Given the description of an element on the screen output the (x, y) to click on. 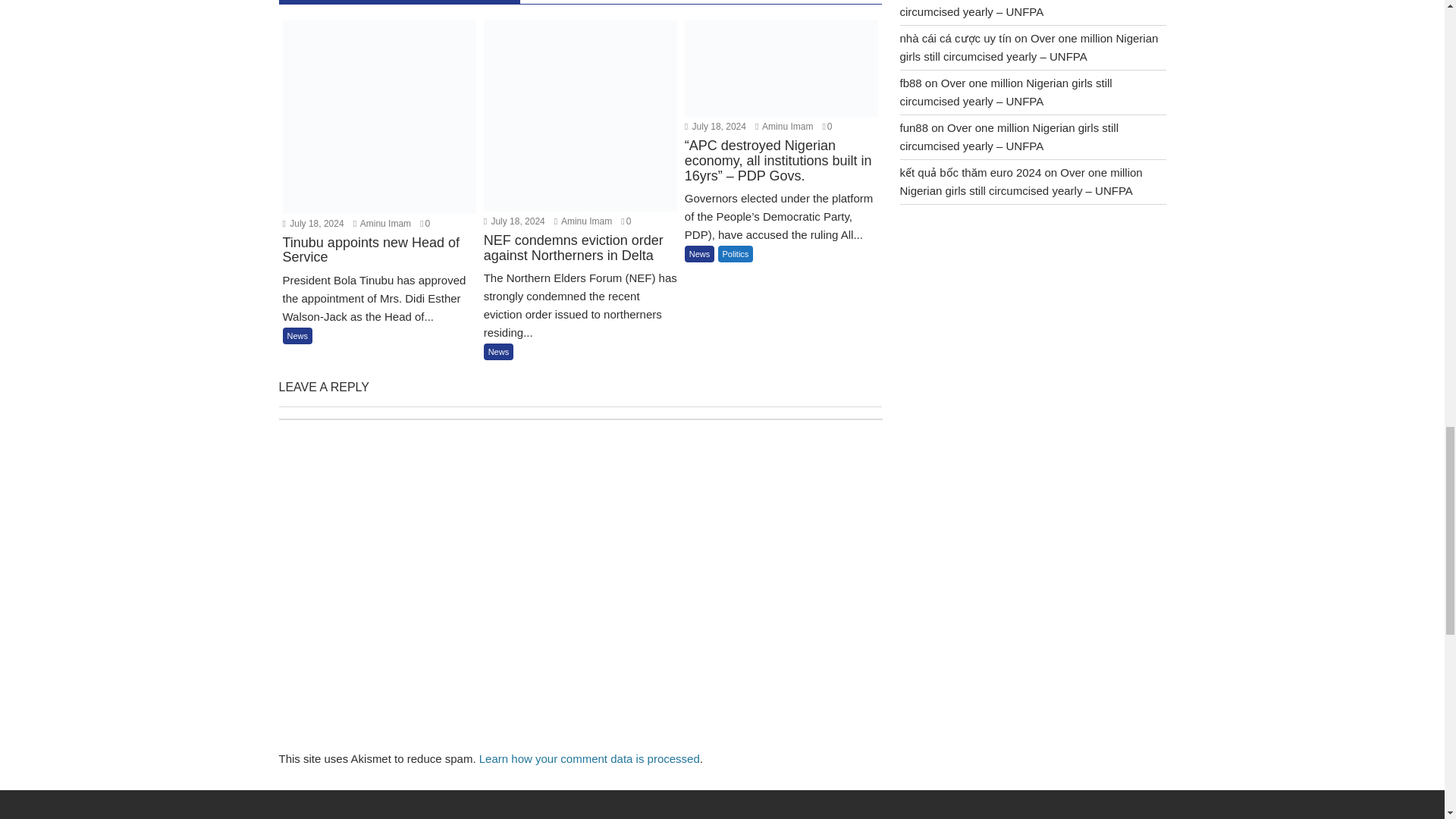
0 (424, 223)
Aminu Imam (381, 223)
Aminu Imam (783, 126)
Aminu Imam (381, 223)
Aminu Imam (582, 221)
News (297, 335)
Tinubu appoints new Head of Service (379, 260)
July 18, 2024 (312, 223)
